Given the description of an element on the screen output the (x, y) to click on. 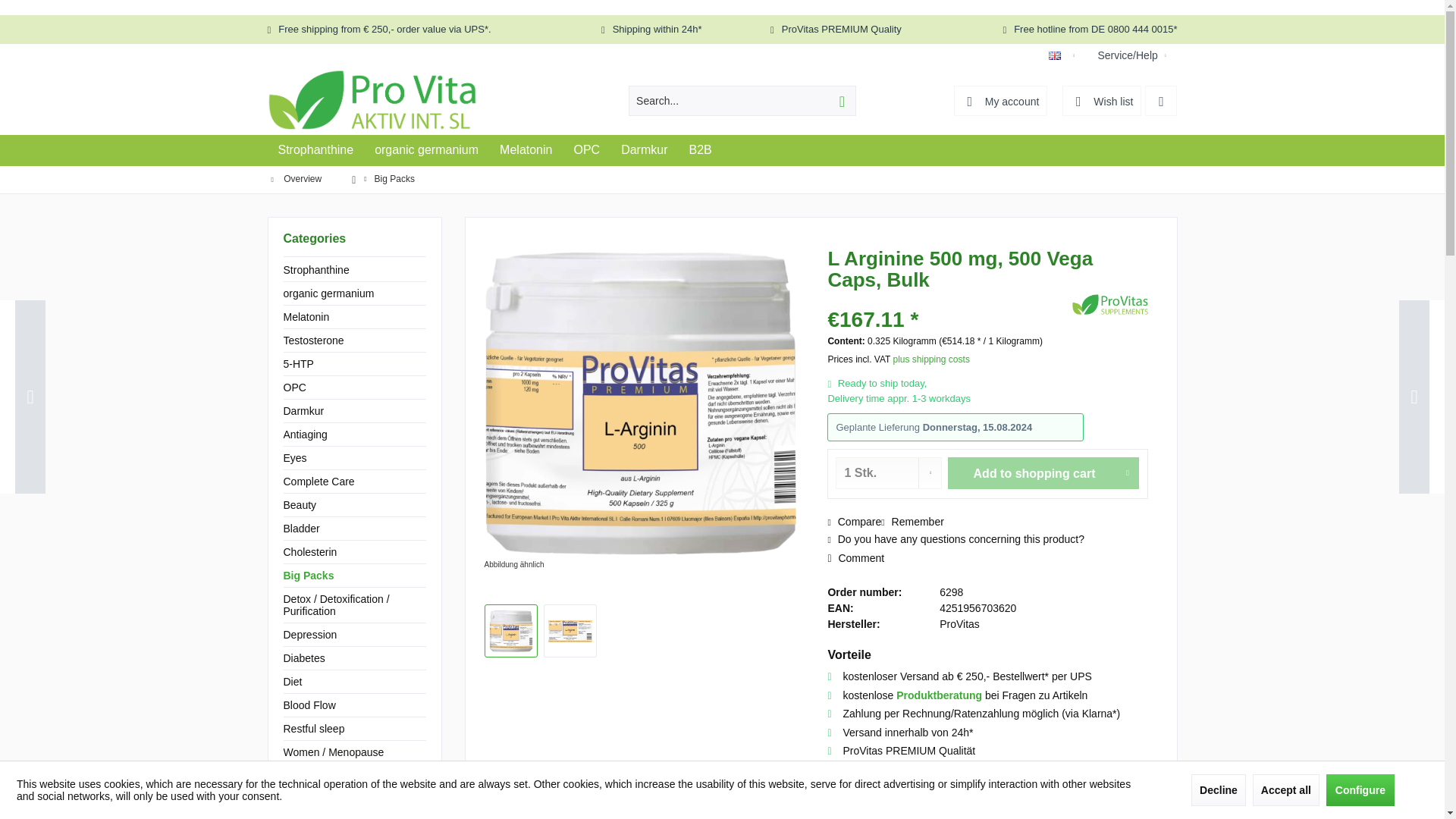
Strophanthine (315, 150)
B2B (700, 150)
Strophanthineorganic germaniumMelatoninOPCDarmkurB2B (721, 150)
B2B (700, 150)
Darmkur (644, 150)
5-HTP (354, 363)
Strophanthineorganic germaniumMelatoninOPCDarmkurB2B (721, 150)
organic germanium (354, 292)
Shopping cart (1160, 100)
Strophanthine (315, 150)
